Given the description of an element on the screen output the (x, y) to click on. 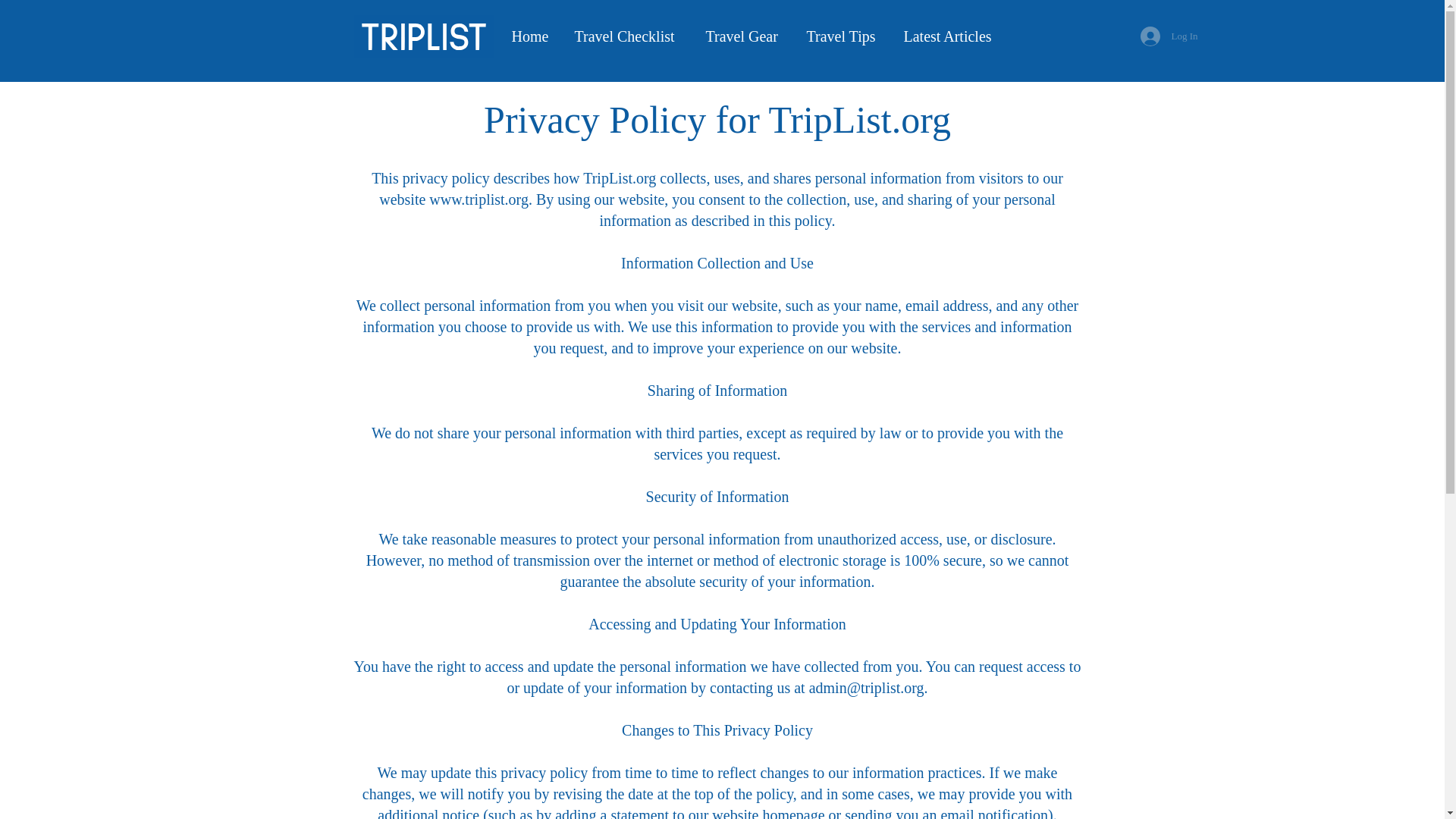
Log In (1168, 36)
www.triplist.org (478, 199)
Latest Articles (952, 36)
Home (531, 36)
Travel Gear (744, 36)
Travel Checklist (628, 36)
Travel Tips (842, 36)
